Given the description of an element on the screen output the (x, y) to click on. 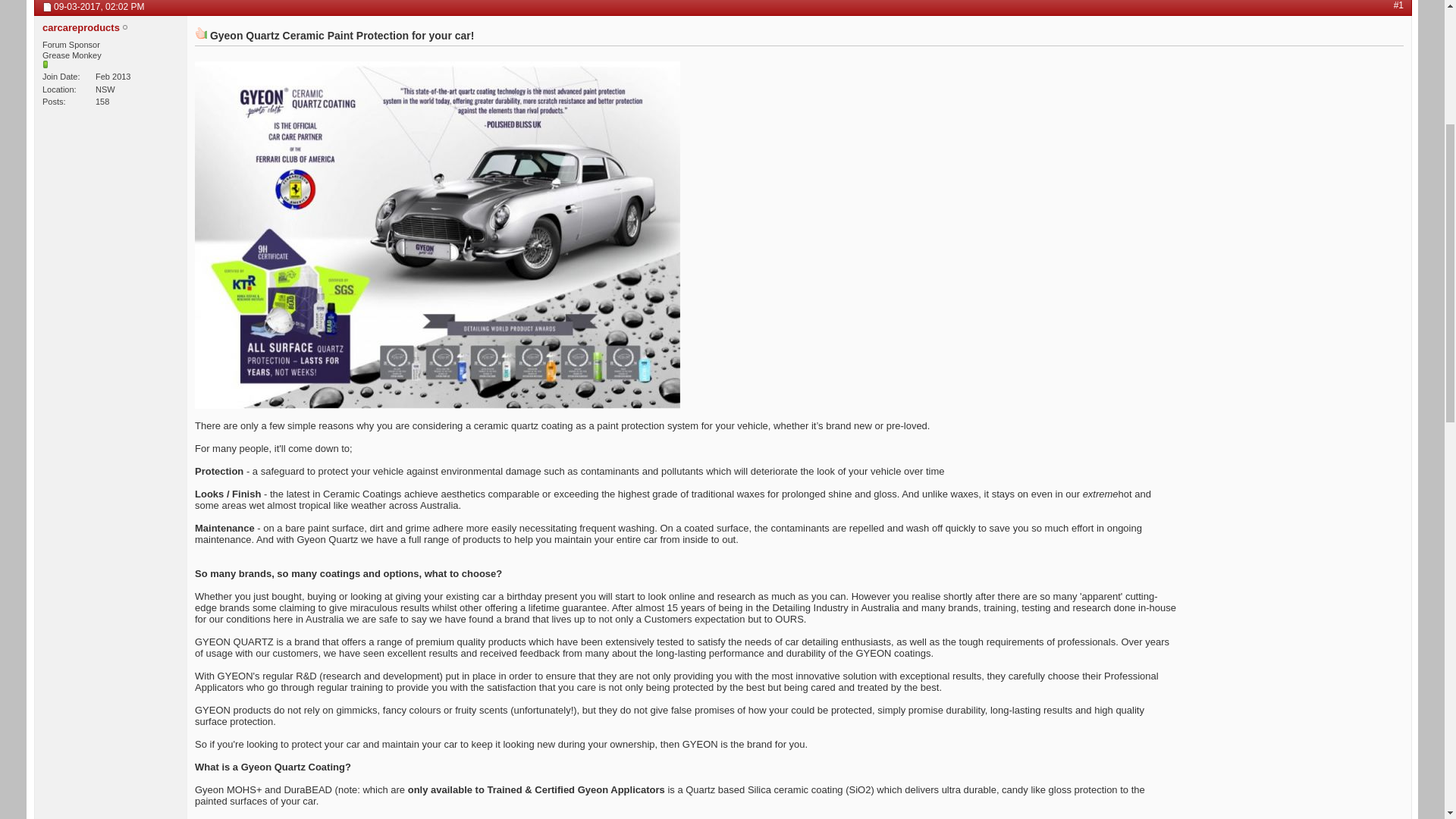
Community Element type: text (271, 117)
What's New? Element type: text (78, 97)
Advertisement Element type: hover (1209, 58)
Forum Home Element type: text (73, 117)
Help Element type: text (1318, 9)
Forum Element type: text (63, 150)
Quick Links Element type: text (405, 117)
Advanced Search Element type: text (1369, 116)
Forum Element type: text (145, 95)
New Posts Element type: text (132, 117)
Toymods Forum Sponsors Element type: text (152, 150)
Calendar Element type: text (216, 117)
Log in Element type: text (1269, 7)
Gyeon Quartz Ceramic Paint Protection for your car! Element type: text (207, 269)
Home Element type: hover (38, 149)
carcareproducts Element type: text (80, 338)
FAQ Element type: text (176, 117)
Toymods Car Club - Powered by vBulletin Element type: hover (84, 39)
carcareproducts is offline Element type: hover (125, 338)
#1 Element type: text (1398, 315)
CarCareProducts Element type: text (265, 150)
Thread Tools Element type: text (1371, 292)
Thumbs up Element type: hover (200, 344)
register Element type: text (446, 172)
FAQ Element type: text (241, 172)
Register Element type: text (1369, 9)
Forum Actions Element type: text (338, 117)
carcareproducts is neither here nor there Element type: hover (110, 375)
